Given the description of an element on the screen output the (x, y) to click on. 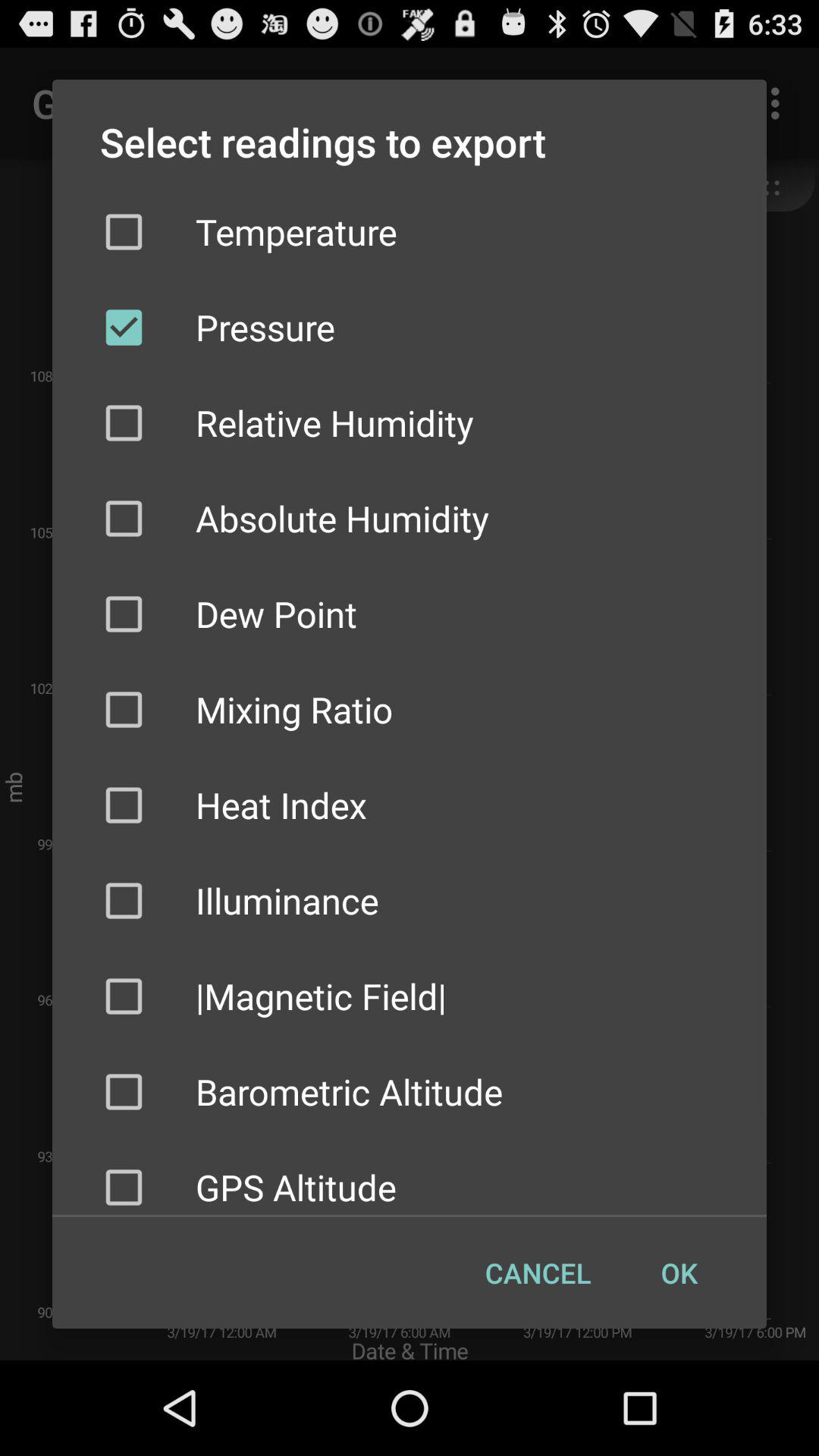
launch item below gps altitude checkbox (538, 1272)
